Given the description of an element on the screen output the (x, y) to click on. 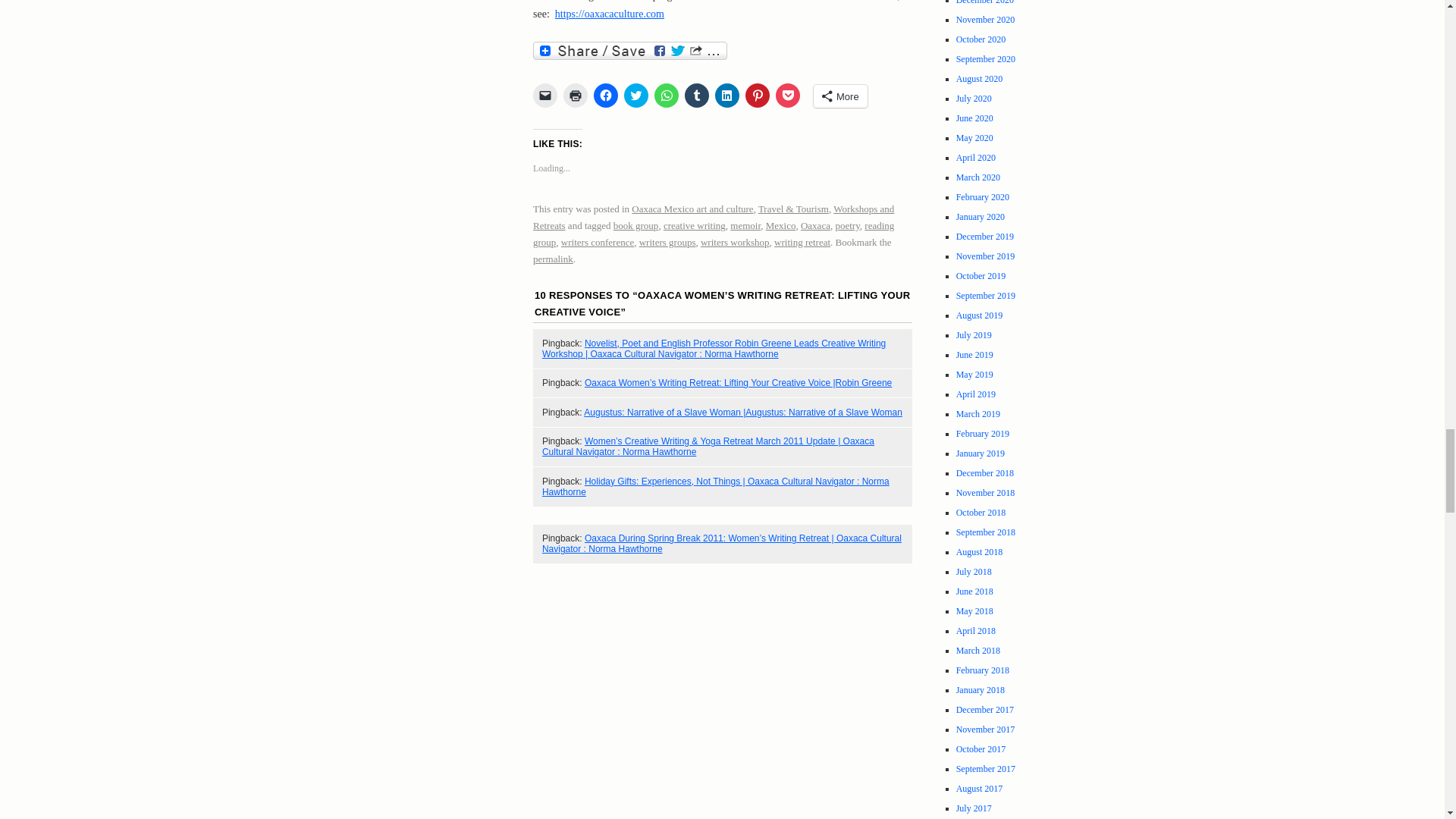
More (840, 96)
Click to share on Facebook (605, 95)
Click to print (575, 95)
Click to email a link to a friend (544, 95)
